Given the description of an element on the screen output the (x, y) to click on. 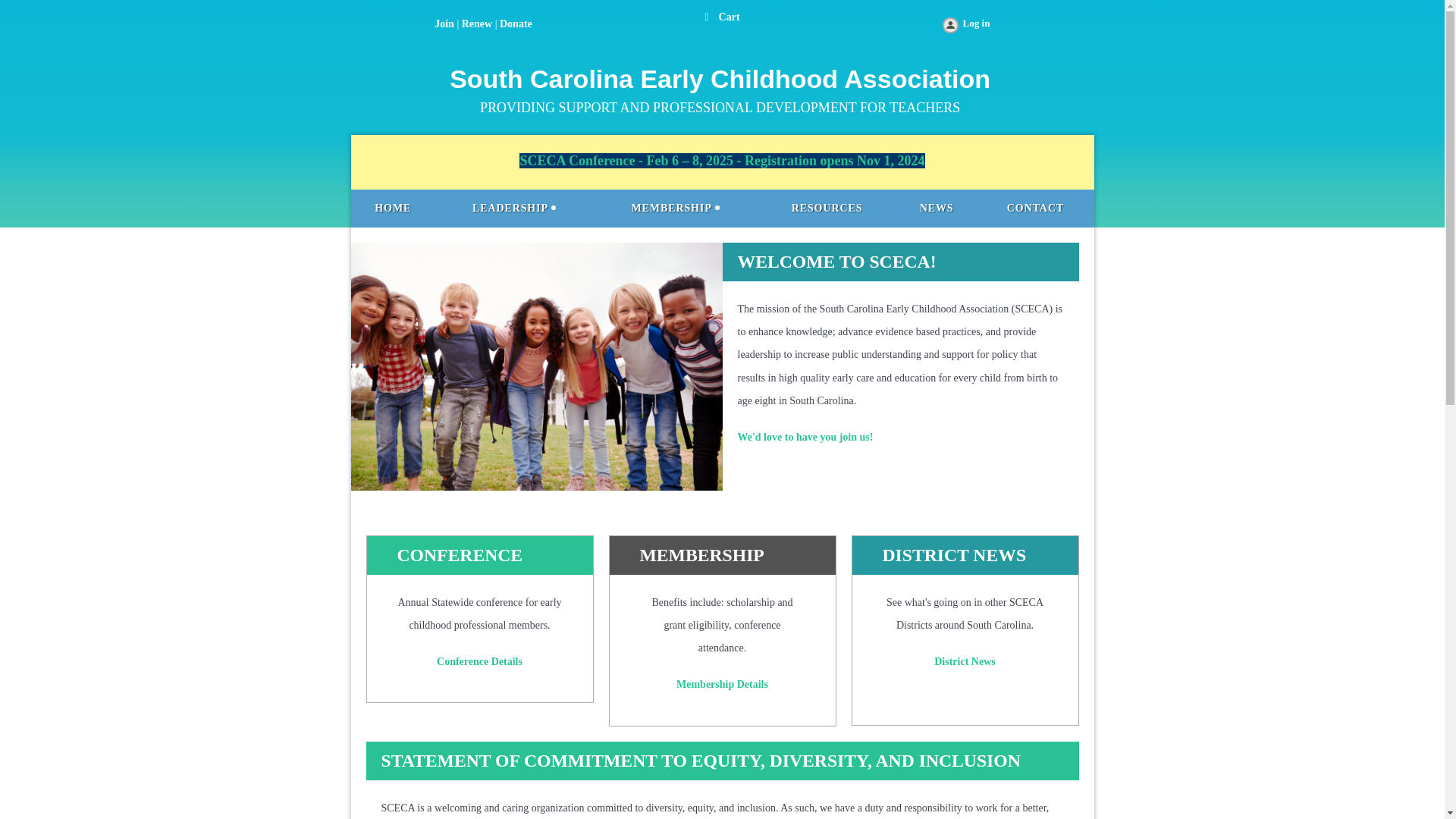
Membership Details (722, 684)
Renew (476, 23)
Log in (965, 26)
Join (443, 23)
NEWS (936, 208)
Contact (1035, 208)
HOME (392, 208)
Cart (721, 17)
News (936, 208)
Home (392, 208)
Membership (674, 208)
Conference Details (479, 661)
RESOURCES (826, 208)
MEMBERSHIP (674, 208)
Resources (826, 208)
